Given the description of an element on the screen output the (x, y) to click on. 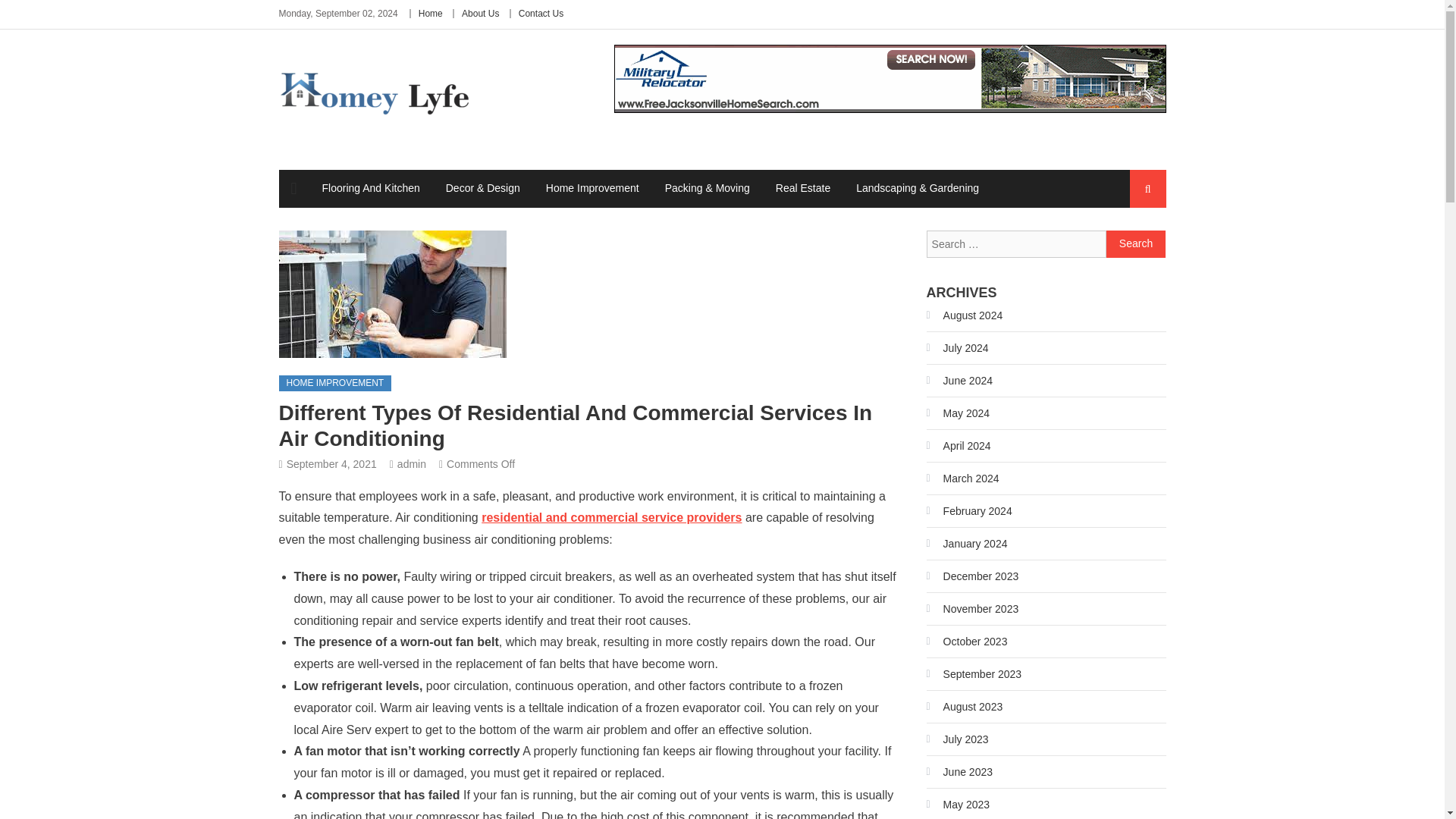
About Us (480, 13)
Search (1136, 243)
admin (411, 463)
Home (430, 13)
HOME IMPROVEMENT (335, 383)
Contact Us (540, 13)
Real Estate (802, 187)
Flooring And Kitchen (370, 187)
Home Improvement (592, 187)
Search (1133, 245)
